Given the description of an element on the screen output the (x, y) to click on. 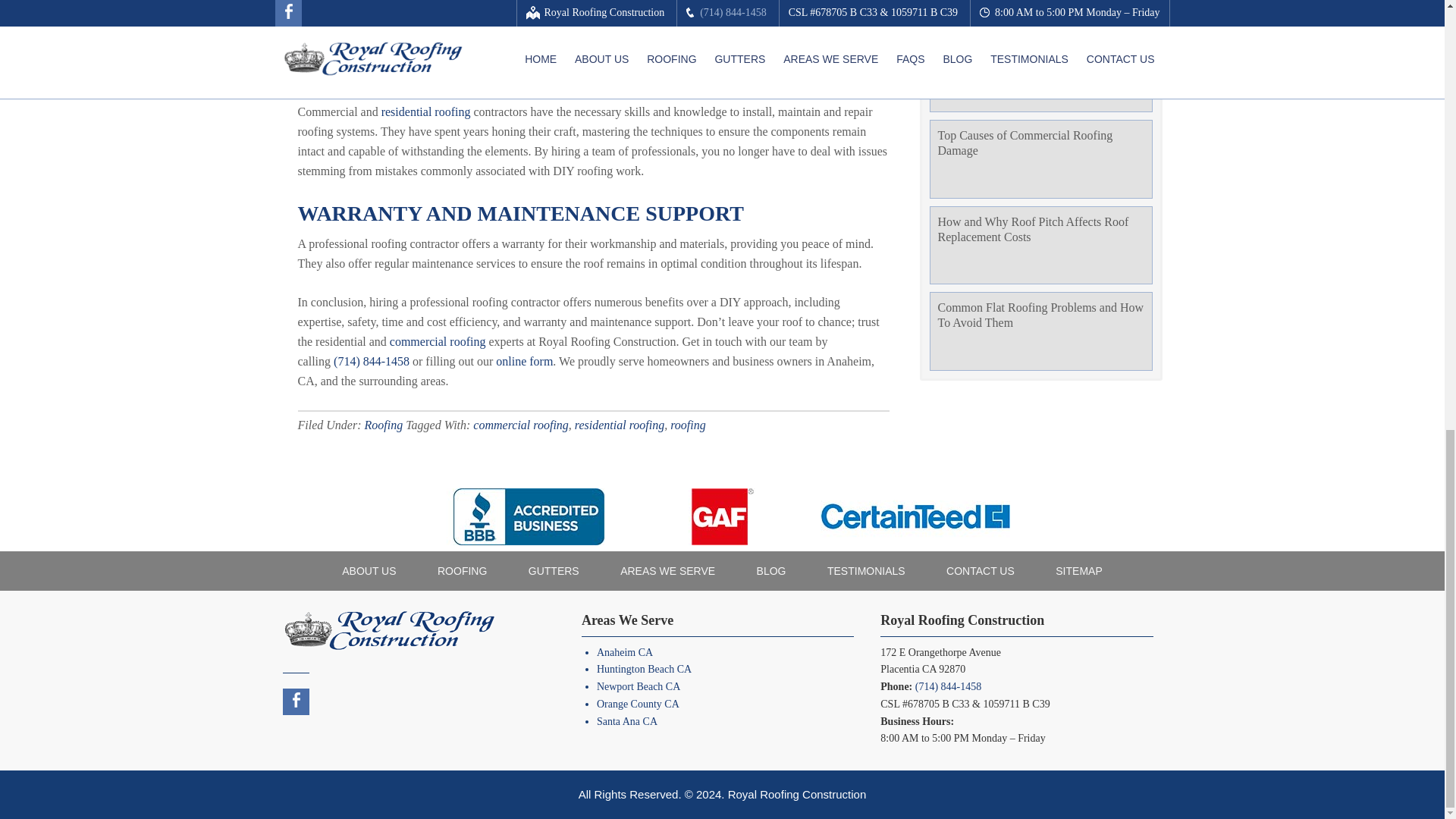
CertainTeed (915, 516)
Royal Roofing Construction (388, 630)
Facebook (295, 701)
BBB Accredited Business (528, 516)
GAF (721, 516)
